Given the description of an element on the screen output the (x, y) to click on. 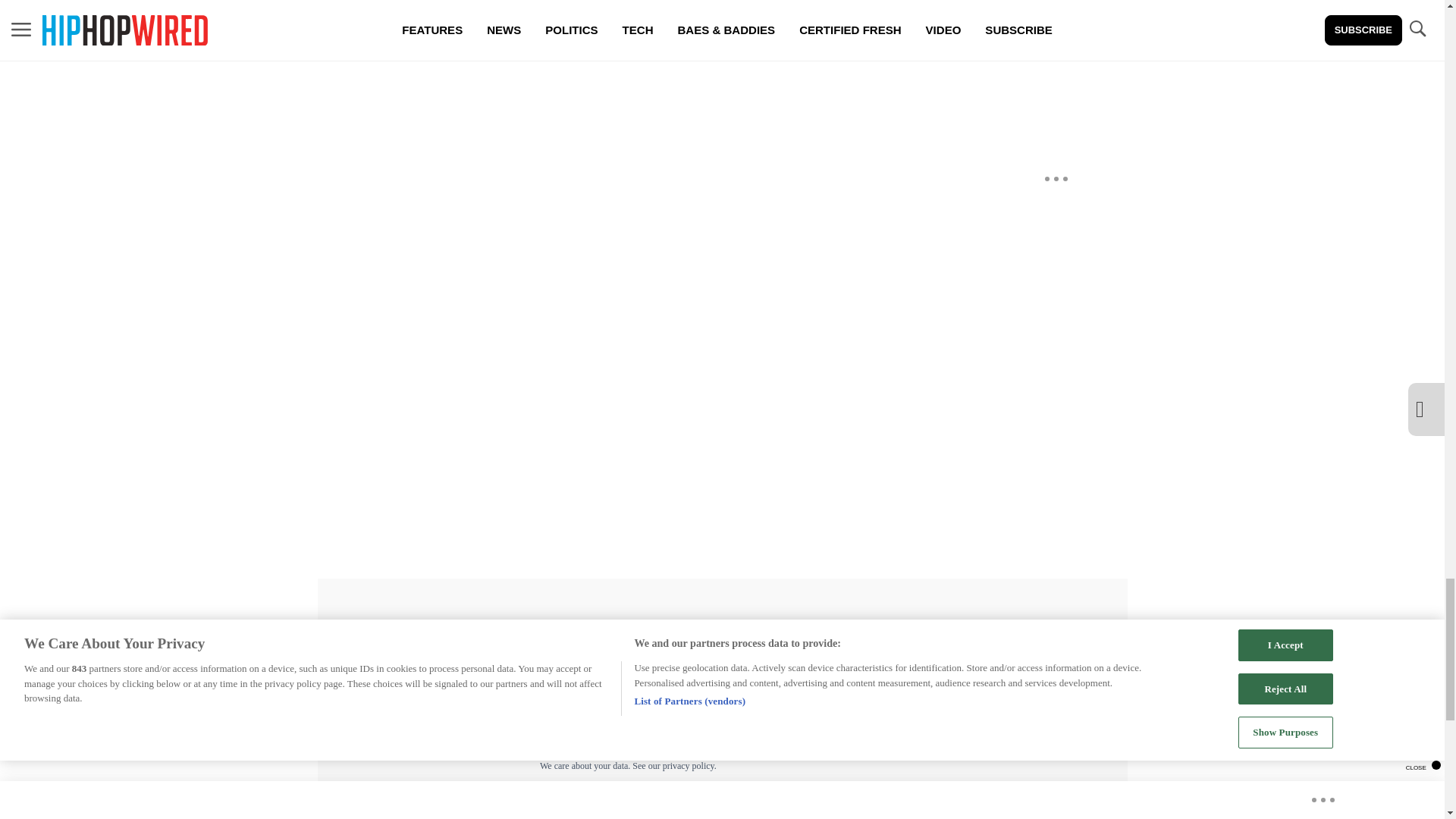
Vuukle Comments Widget (585, 70)
